Given the description of an element on the screen output the (x, y) to click on. 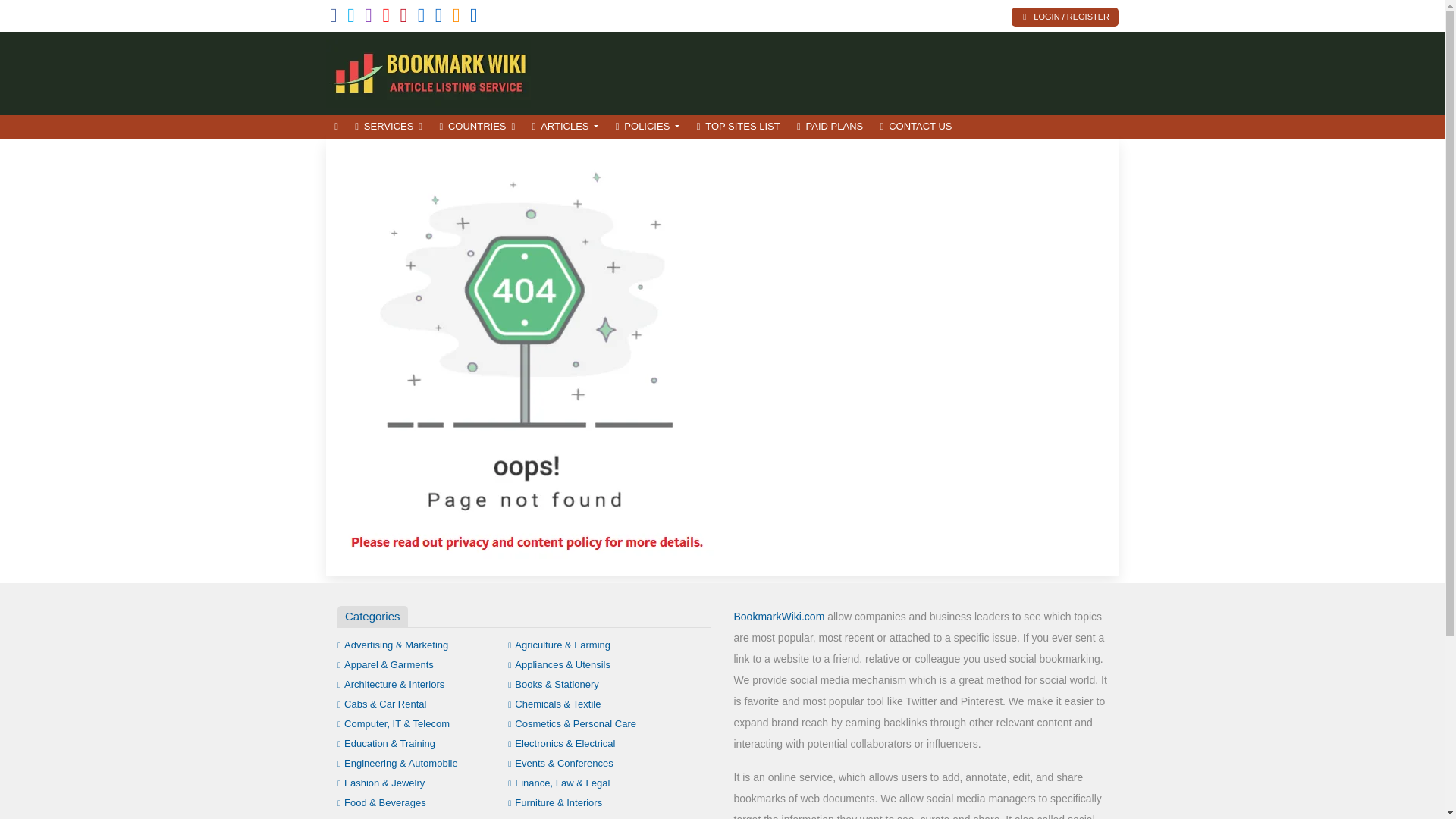
Dofollow Social Bookmarking and Directory Submission Service (428, 71)
SERVICES (388, 126)
